Given the description of an element on the screen output the (x, y) to click on. 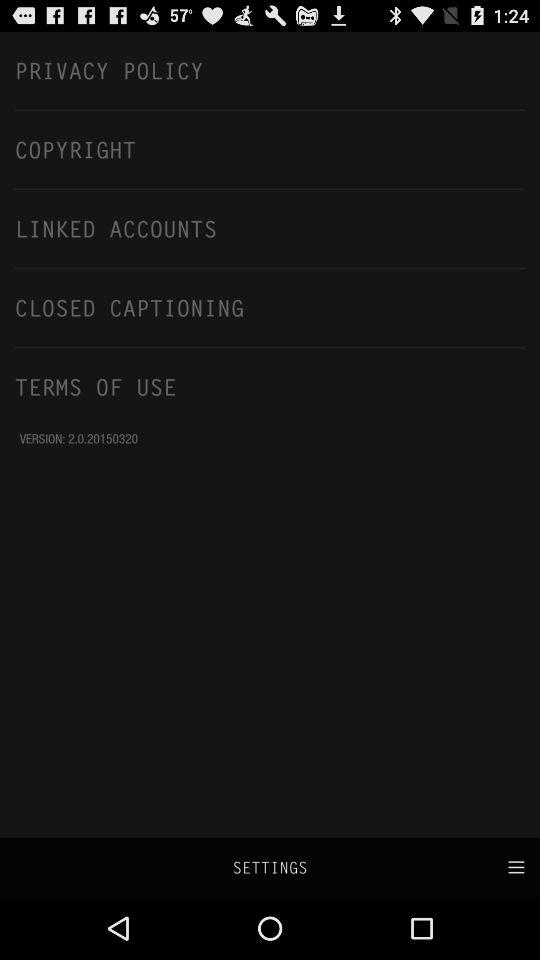
launch terms of use icon (270, 386)
